Given the description of an element on the screen output the (x, y) to click on. 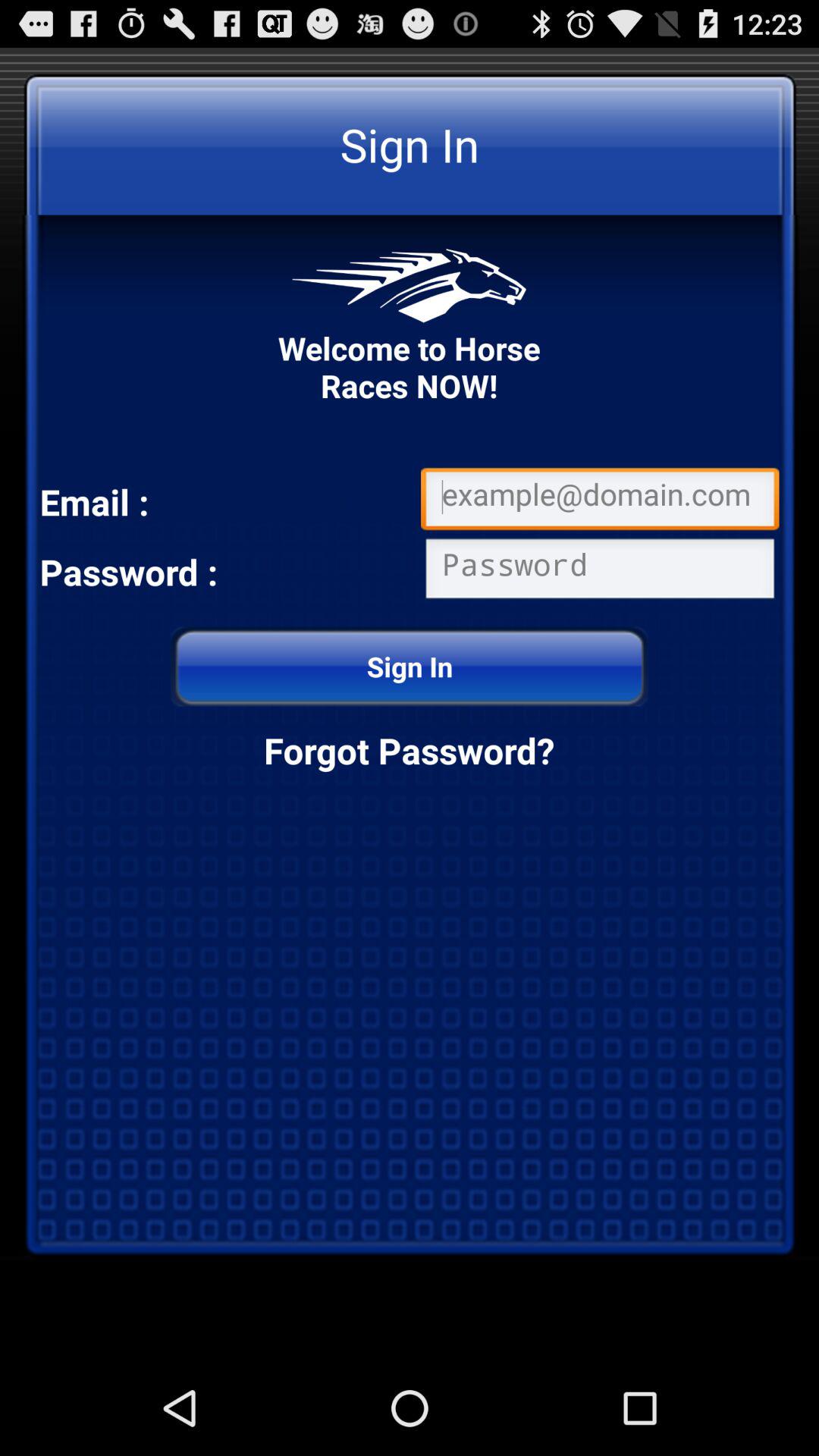
write email address for login (599, 501)
